Given the description of an element on the screen output the (x, y) to click on. 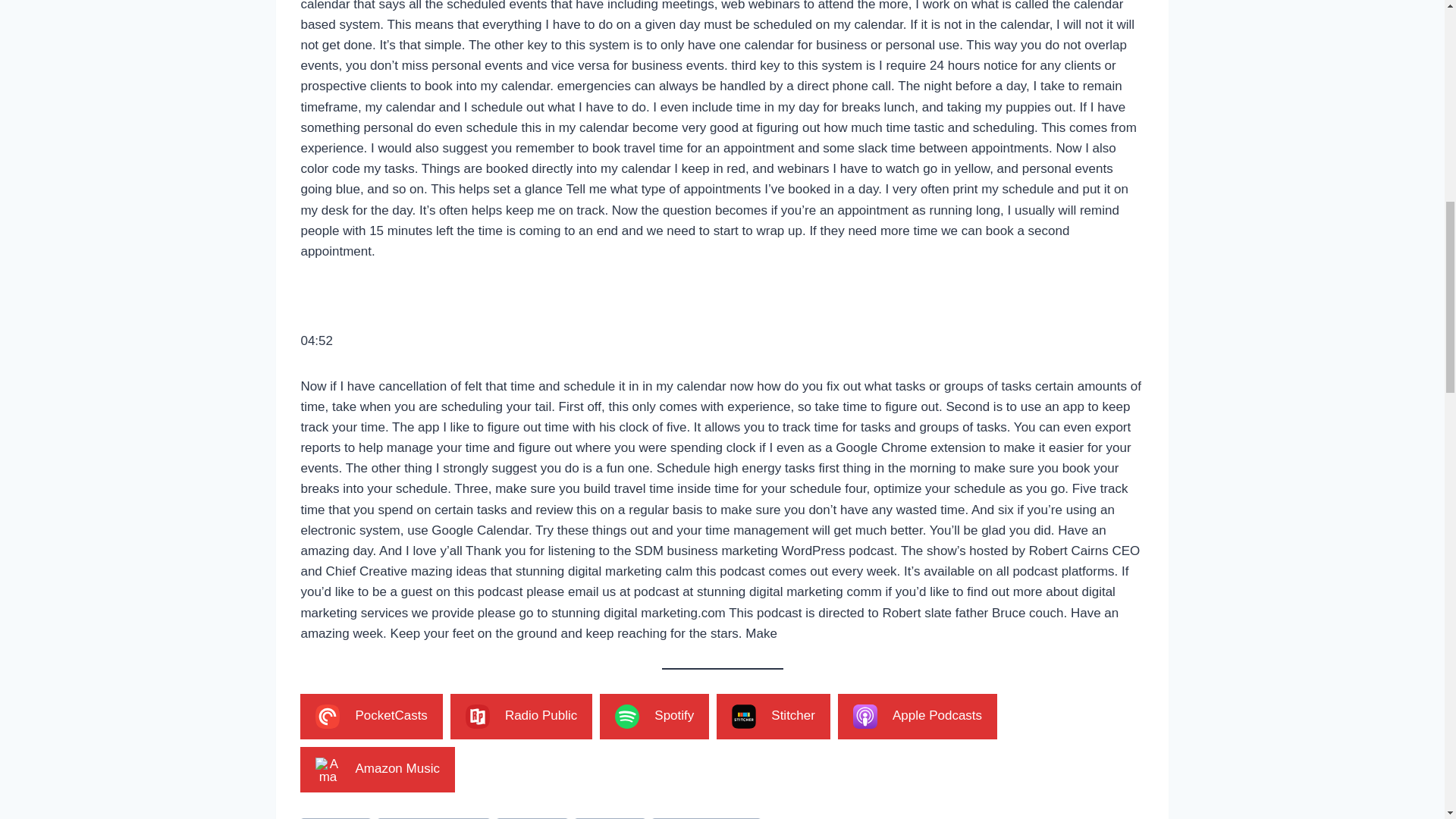
Episode 38: Time Management Techniques (865, 716)
Episode 38: Time Management Techniques (477, 716)
Techniques (609, 818)
Episode 38: Time Management Techniques (327, 716)
Episode 38: Time Management Techniques (626, 716)
Productivity (532, 818)
David Allen (335, 818)
Episode 38: Time Management Techniques (743, 716)
Episode 38: Time Management Techniques (327, 769)
